Given the description of an element on the screen output the (x, y) to click on. 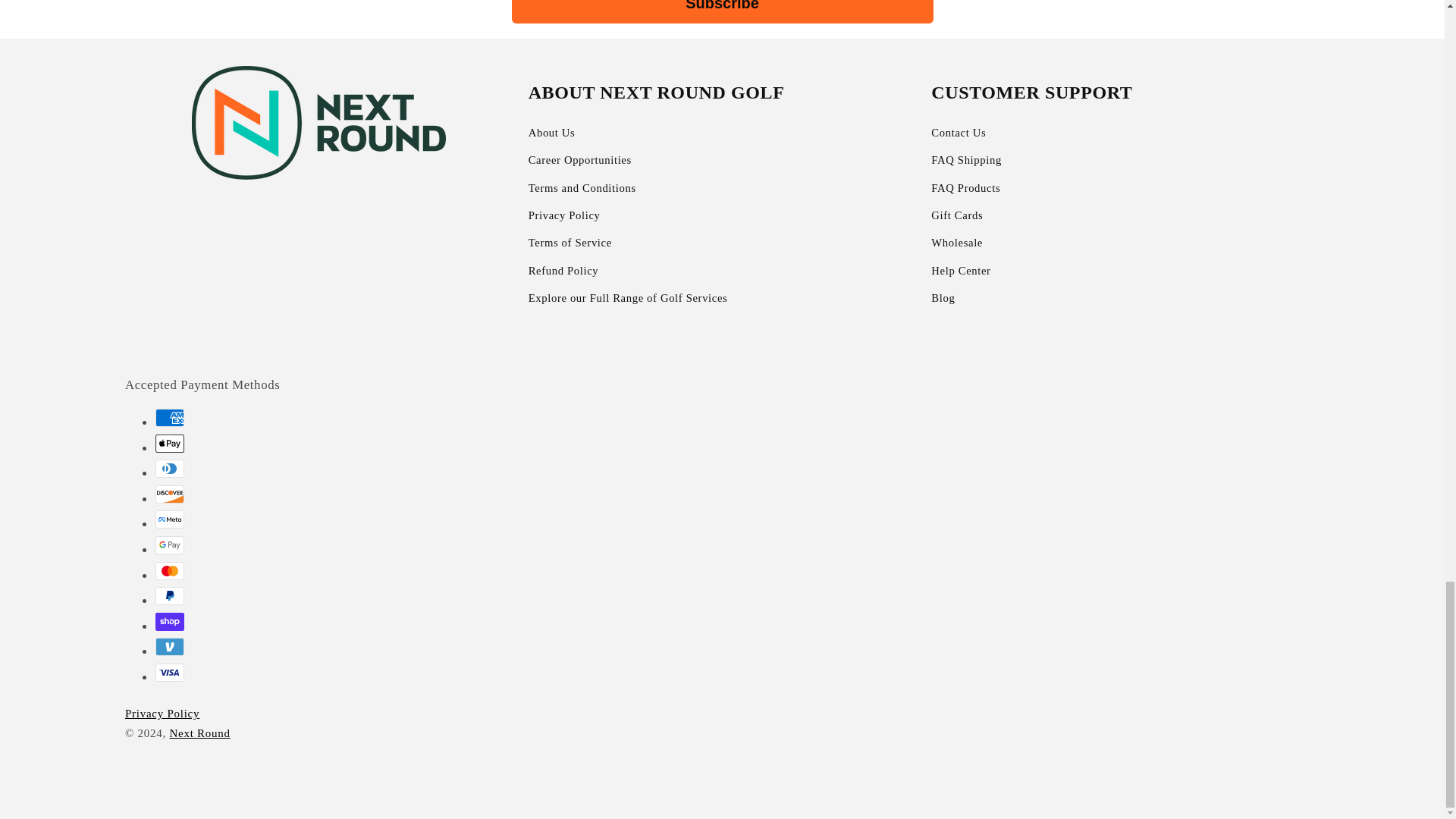
Google Pay (169, 545)
Venmo (169, 647)
Apple Pay (169, 443)
American Express (169, 417)
PayPal (169, 596)
Meta Pay (169, 519)
Discover (169, 494)
Diners Club (169, 468)
Shop Pay (169, 621)
Mastercard (169, 570)
